Given the description of an element on the screen output the (x, y) to click on. 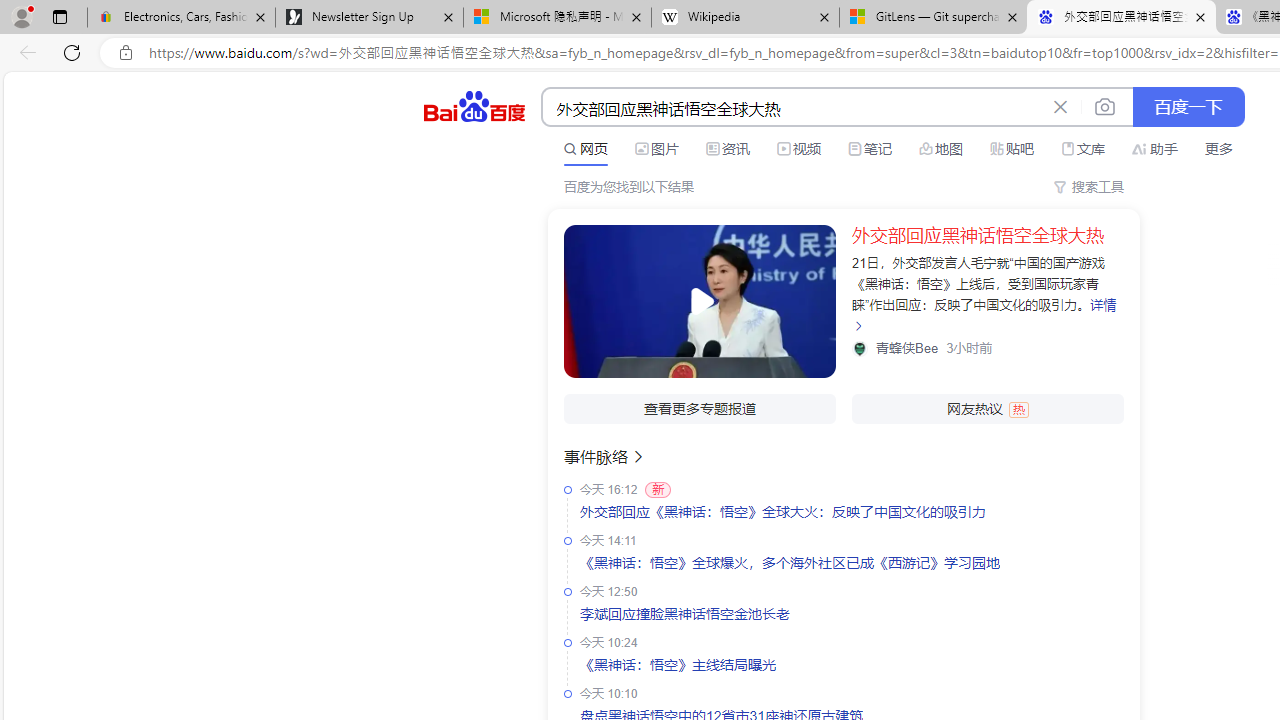
Newsletter Sign Up (369, 17)
